Given the description of an element on the screen output the (x, y) to click on. 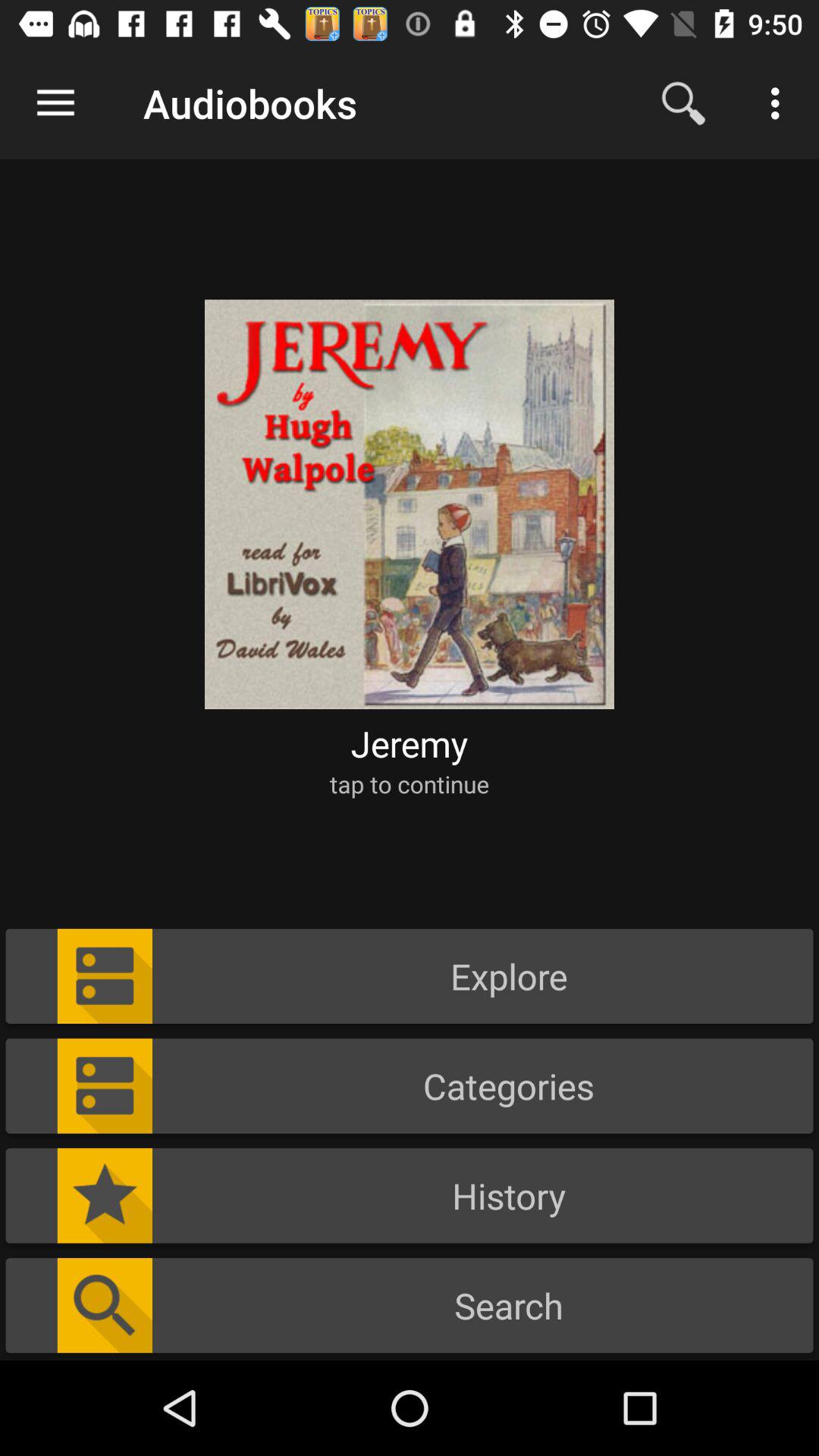
launch the icon next to audiobooks icon (55, 103)
